Given the description of an element on the screen output the (x, y) to click on. 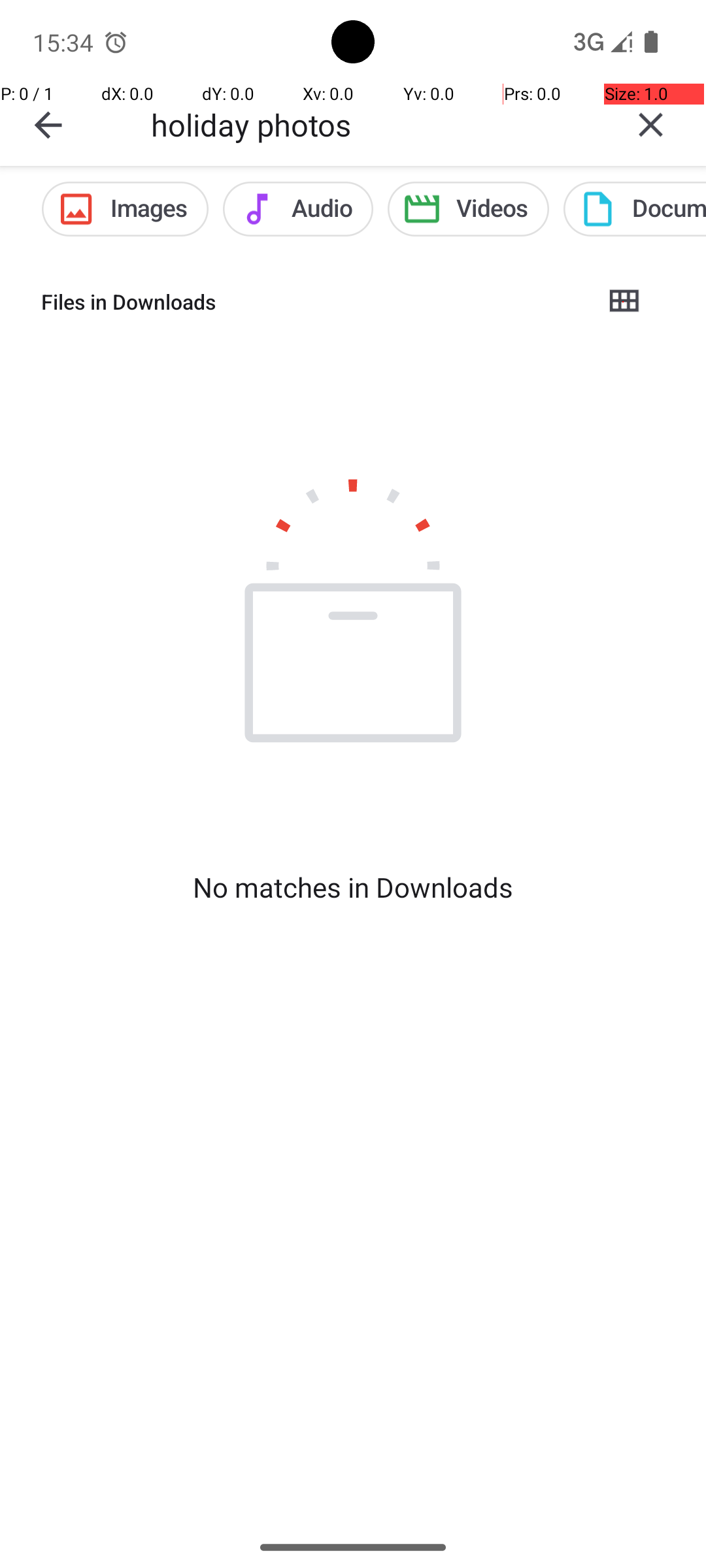
holiday photos Element type: android.widget.AutoCompleteTextView (373, 124)
